Given the description of an element on the screen output the (x, y) to click on. 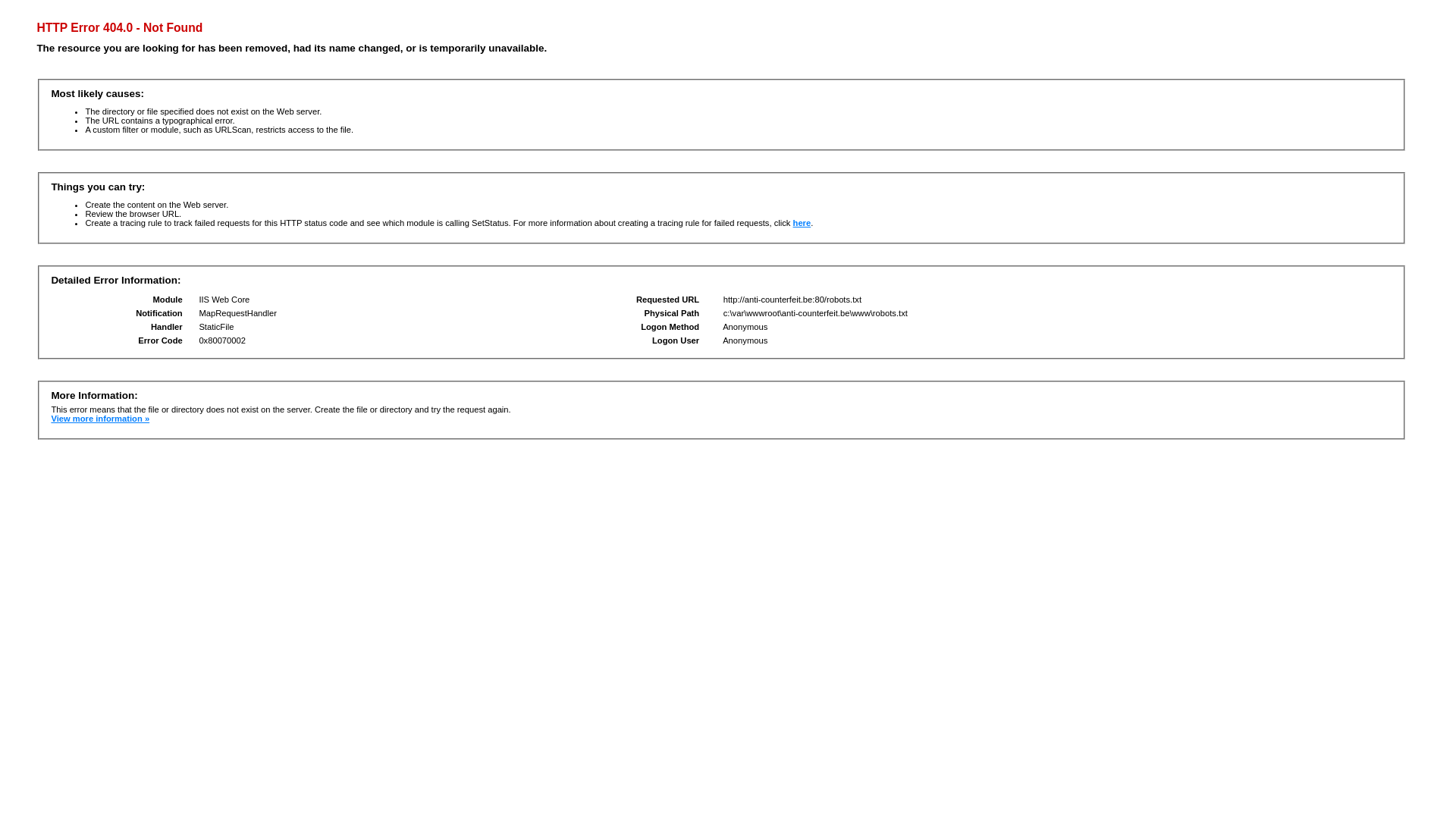
here Element type: text (802, 222)
